Given the description of an element on the screen output the (x, y) to click on. 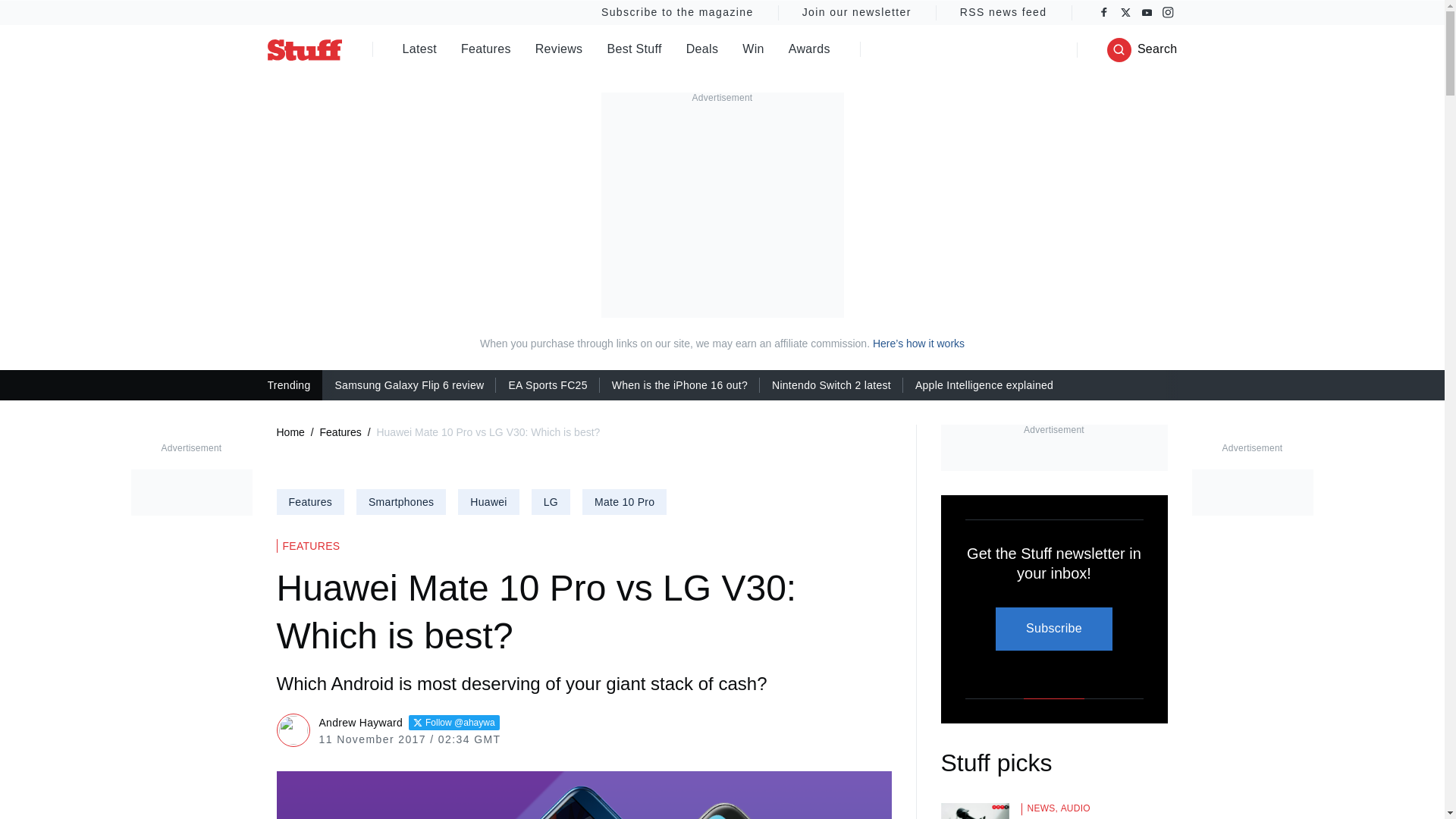
RSS news feed (1003, 11)
Join our newsletter (856, 11)
Best Stuff (634, 50)
EA Sports FC25 (547, 384)
Search (1141, 49)
Awards (809, 50)
Facebook (1103, 12)
Samsung Galaxy Flip 6 review (408, 384)
When is the iPhone 16 out? (679, 384)
Latest (418, 50)
